Given the description of an element on the screen output the (x, y) to click on. 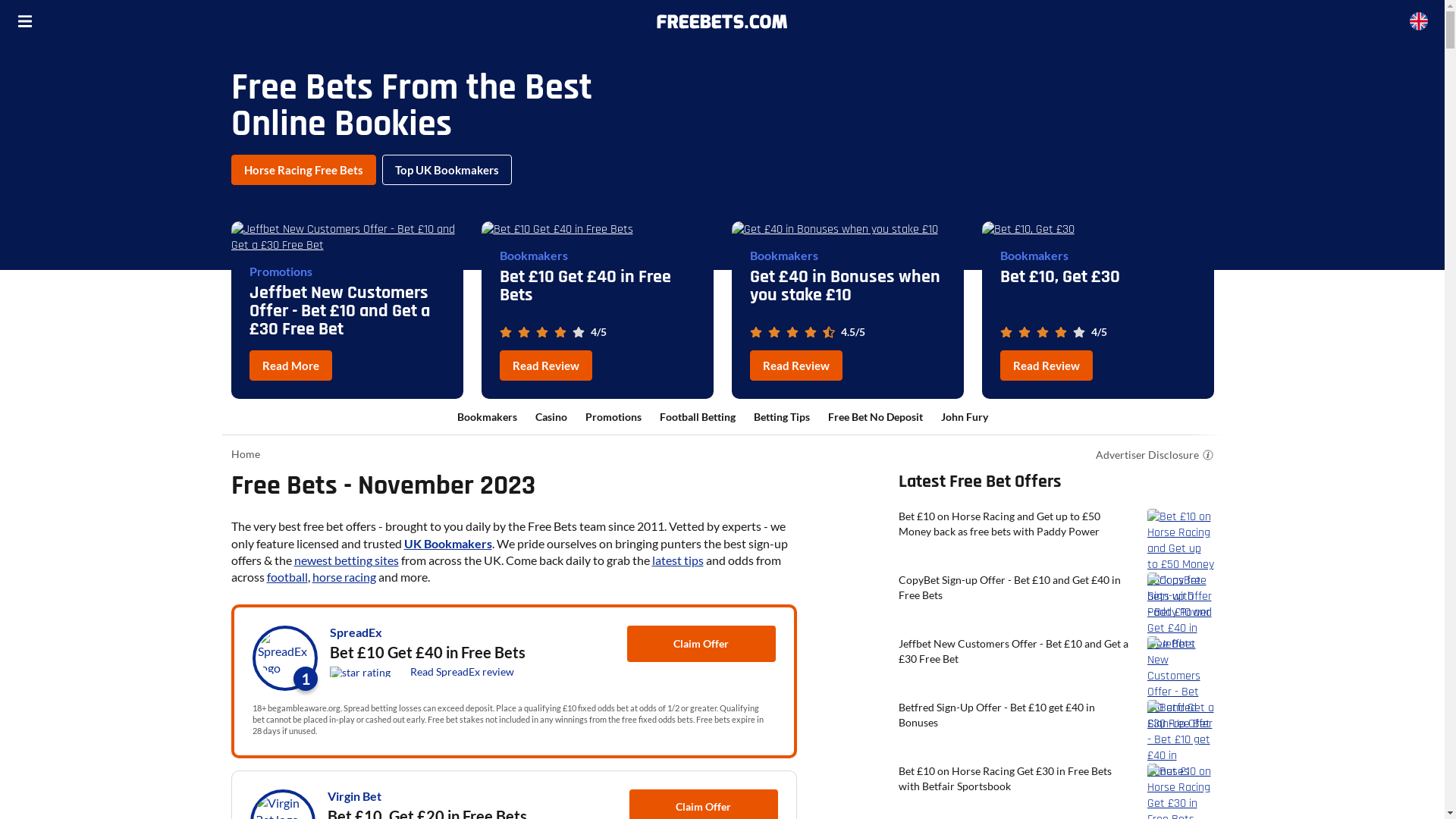
newest betting sites Element type: text (346, 559)
Virgin Bet Element type: text (354, 795)
Bookmakers Element type: text (486, 417)
UK Bookmakers Element type: text (447, 543)
Free Bet No Deposit Element type: text (875, 417)
Read SpreadEx review Element type: text (461, 671)
Home Element type: text (244, 453)
Read More Element type: text (289, 365)
latest tips Element type: text (677, 559)
Casino Element type: text (551, 417)
Advertiser Disclosure Element type: text (1146, 454)
Bookmakers Element type: text (783, 255)
Bookmakers Element type: text (532, 255)
John Fury Element type: text (963, 417)
Read Review Element type: text (1045, 365)
SpreadEx Element type: text (355, 631)
Horse Racing Free Bets Element type: text (302, 169)
horse racing Element type: text (344, 576)
Bookmakers Element type: text (1033, 255)
FreeBets Logo Element type: hover (721, 21)
Read Review Element type: text (795, 365)
Betting Tips Element type: text (781, 417)
Football Betting Element type: text (697, 417)
football Element type: text (286, 576)
Promotions Element type: text (613, 417)
Promotions Element type: text (279, 271)
Read Review Element type: text (544, 365)
Claim Offer Element type: text (700, 643)
Top UK Bookmakers Element type: text (446, 169)
